Given the description of an element on the screen output the (x, y) to click on. 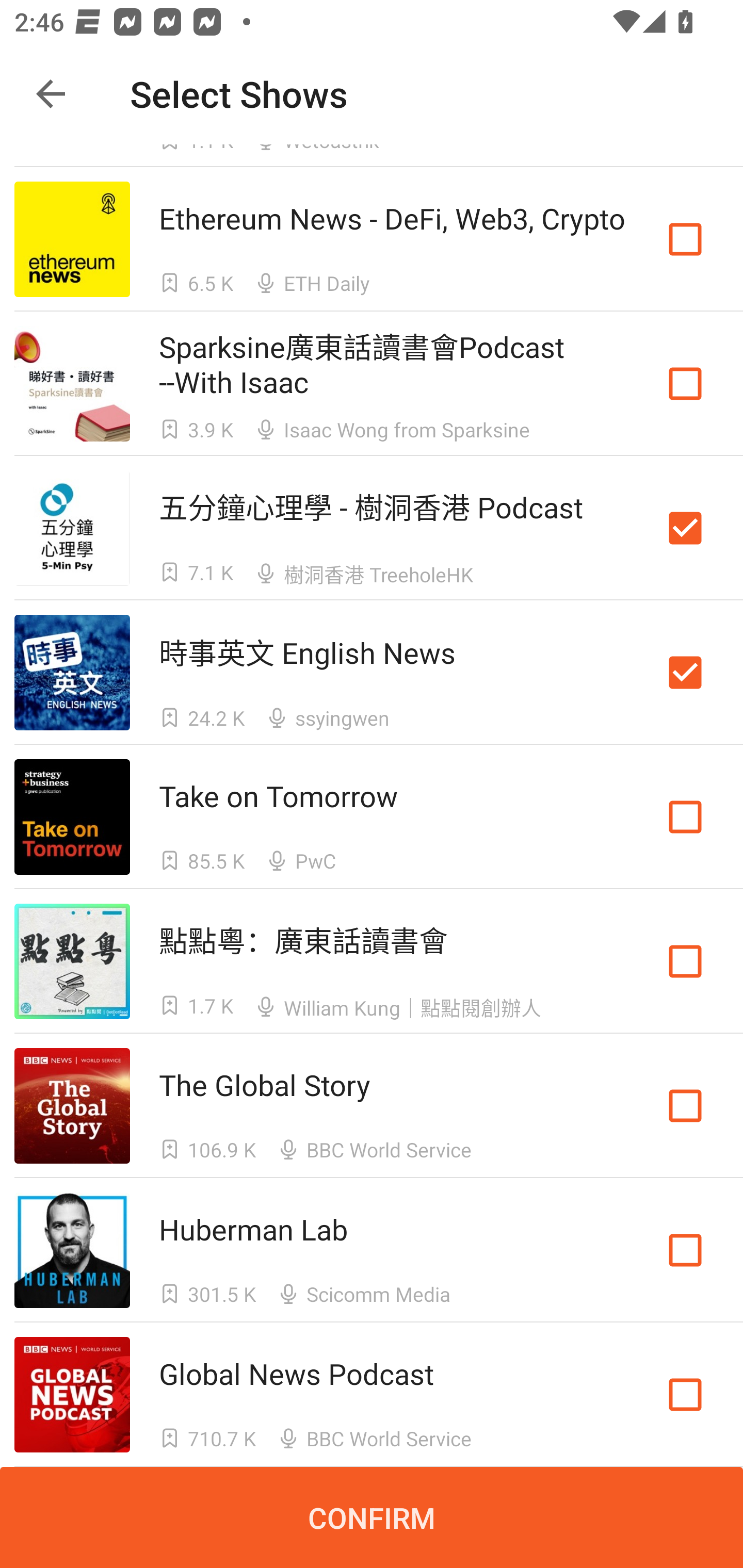
Navigate up (50, 93)
Take on Tomorrow Take on Tomorrow  85.5 K  PwC (371, 816)
CONFIRM (371, 1517)
